Given the description of an element on the screen output the (x, y) to click on. 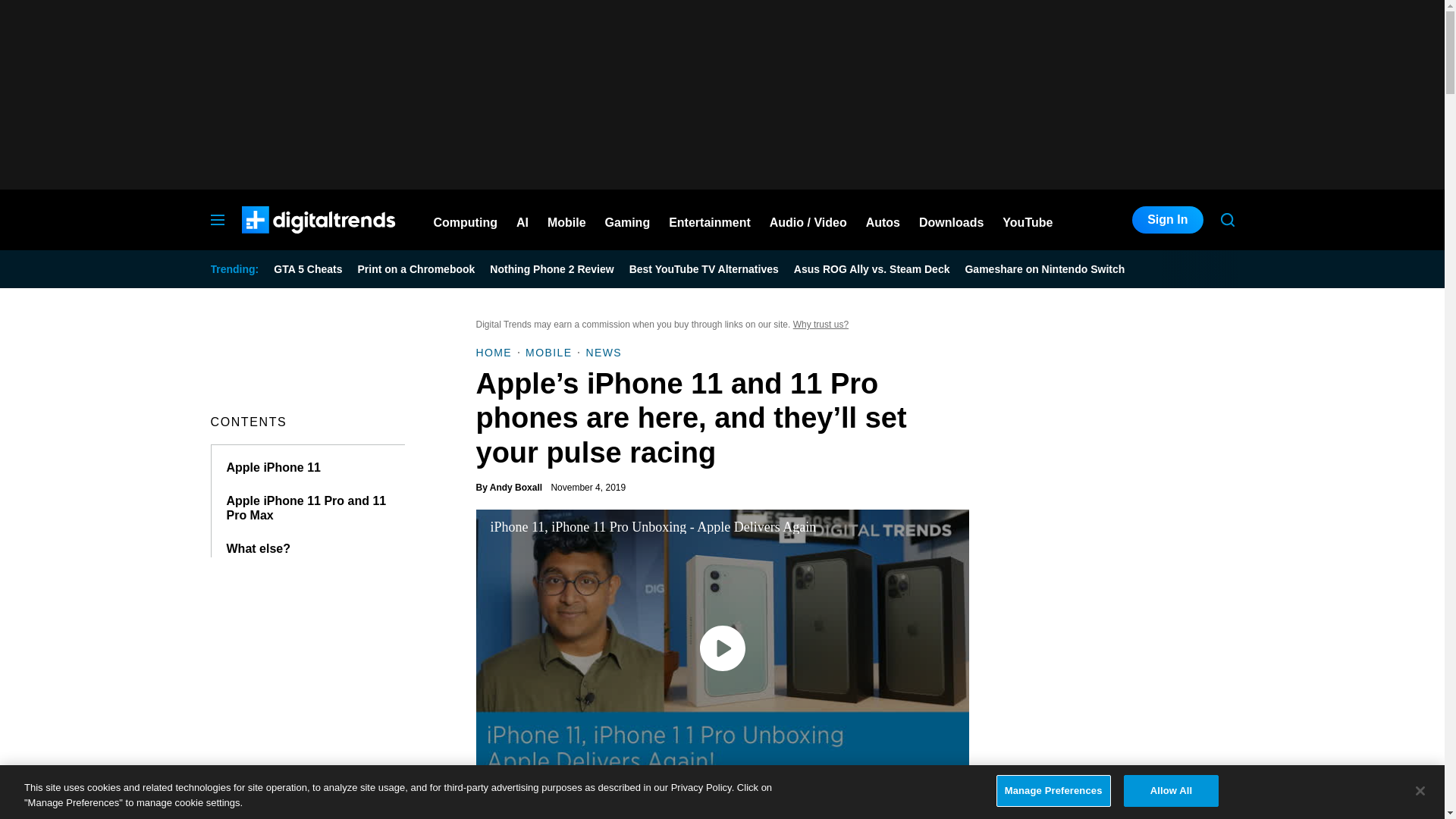
Sign In (1167, 219)
Entertainment (709, 219)
Downloads (951, 219)
Computing (465, 219)
